Given the description of an element on the screen output the (x, y) to click on. 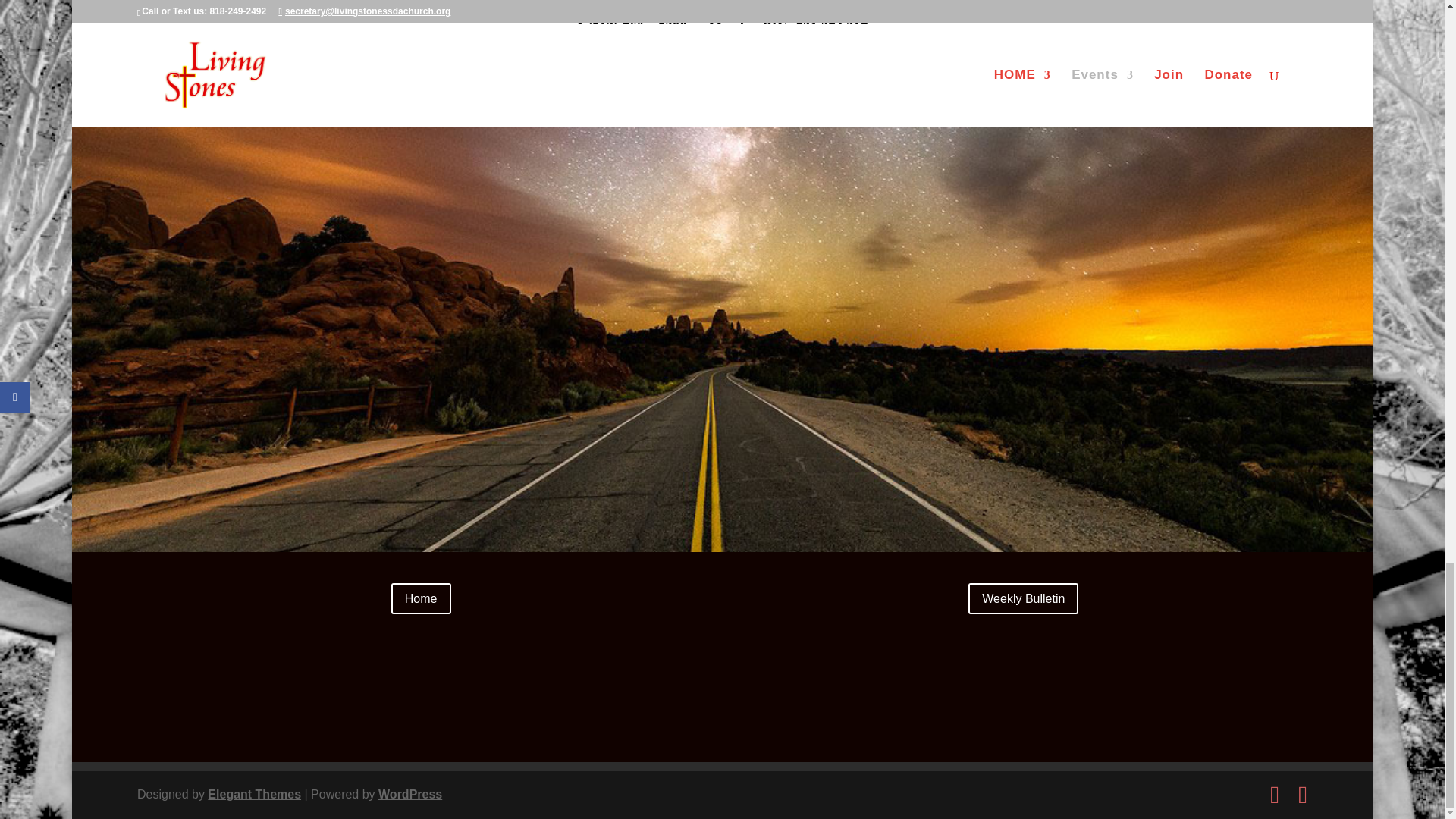
WordPress (410, 793)
Home (421, 598)
Weekly Bulletin (1023, 598)
Premium WordPress Themes (254, 793)
Join (298, 746)
Donate (365, 746)
Elegant Themes (254, 793)
Events (233, 746)
HOME (160, 746)
